Given the description of an element on the screen output the (x, y) to click on. 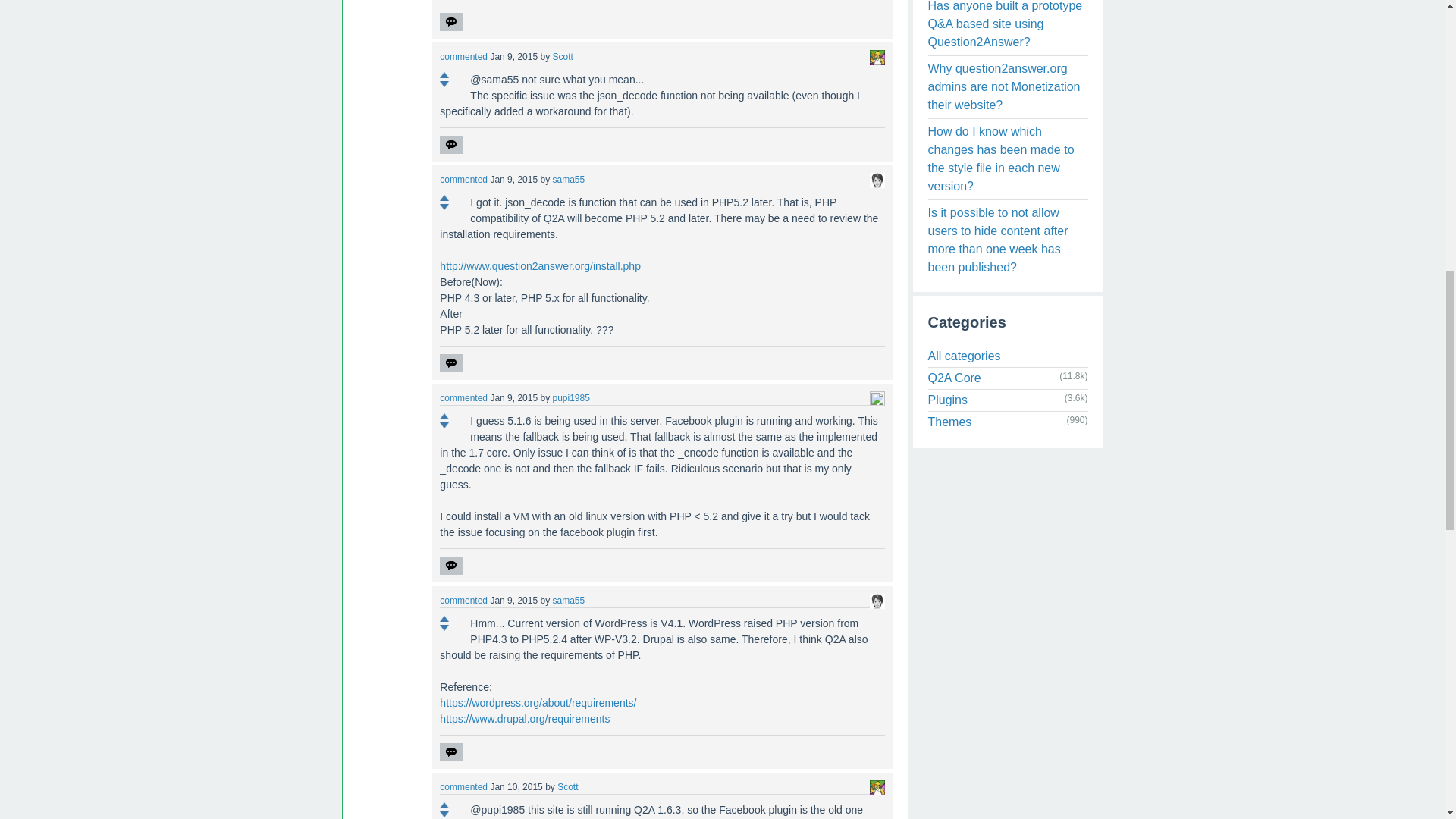
reply (451, 144)
reply (451, 22)
reply (451, 362)
